Given the description of an element on the screen output the (x, y) to click on. 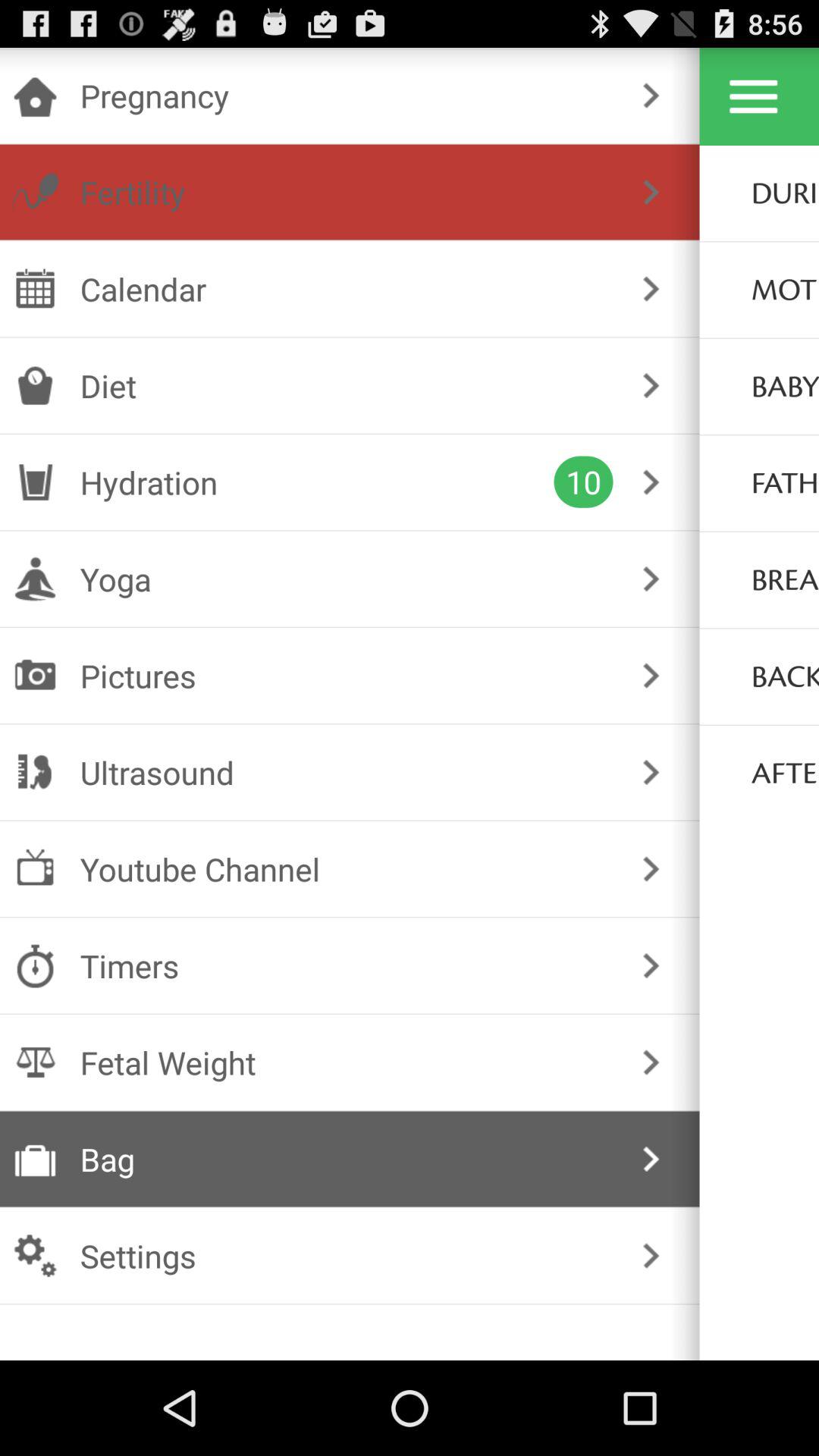
toggle menu (753, 96)
